Given the description of an element on the screen output the (x, y) to click on. 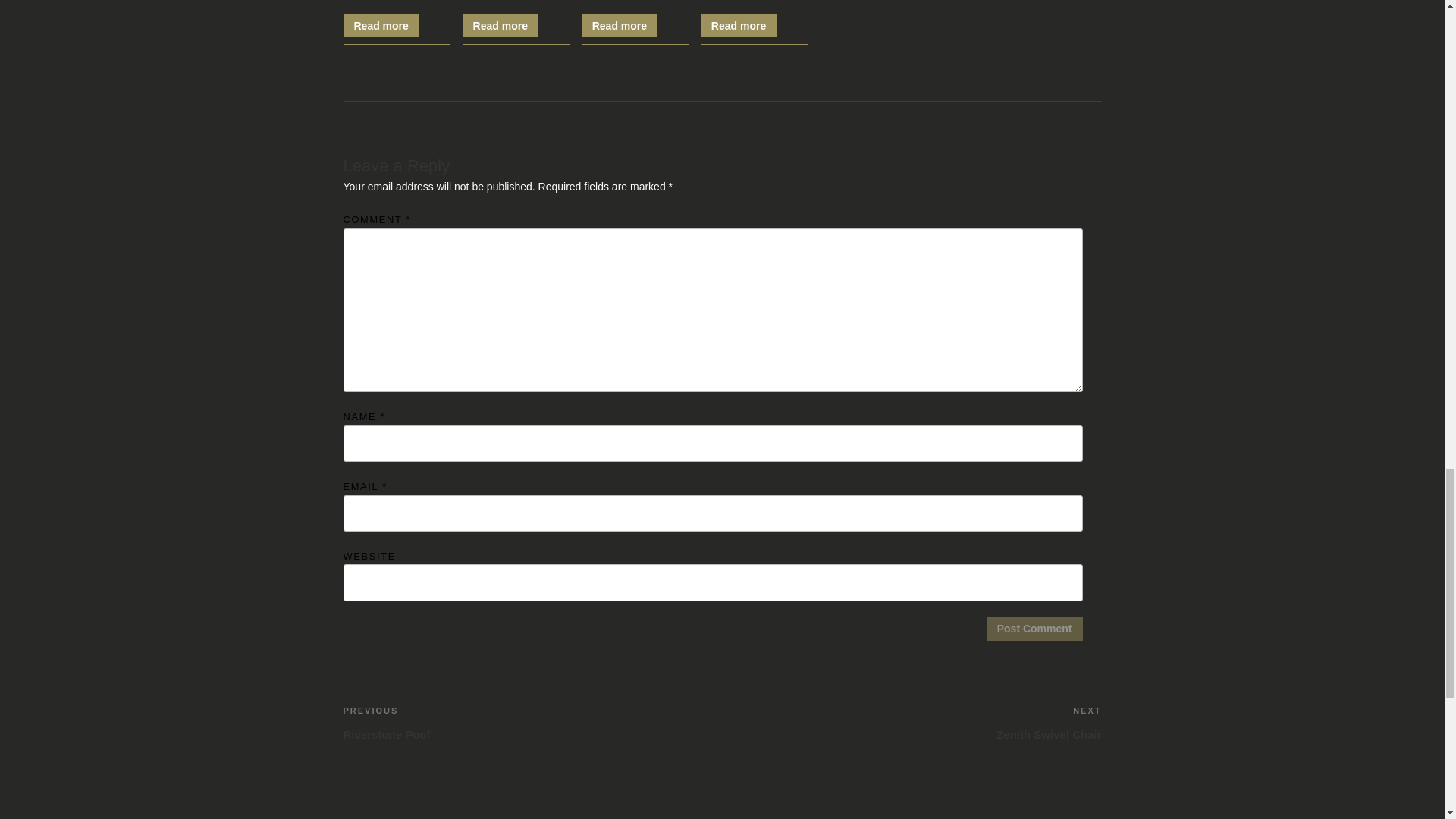
Read more (380, 24)
Post Comment (1035, 628)
Oska Dining Table (634, 15)
Read more (738, 24)
Tangram (516, 15)
Read more (532, 722)
Read more (619, 24)
Zaza (500, 24)
Post Comment (754, 15)
Modular Detroit (1035, 628)
